Given the description of an element on the screen output the (x, y) to click on. 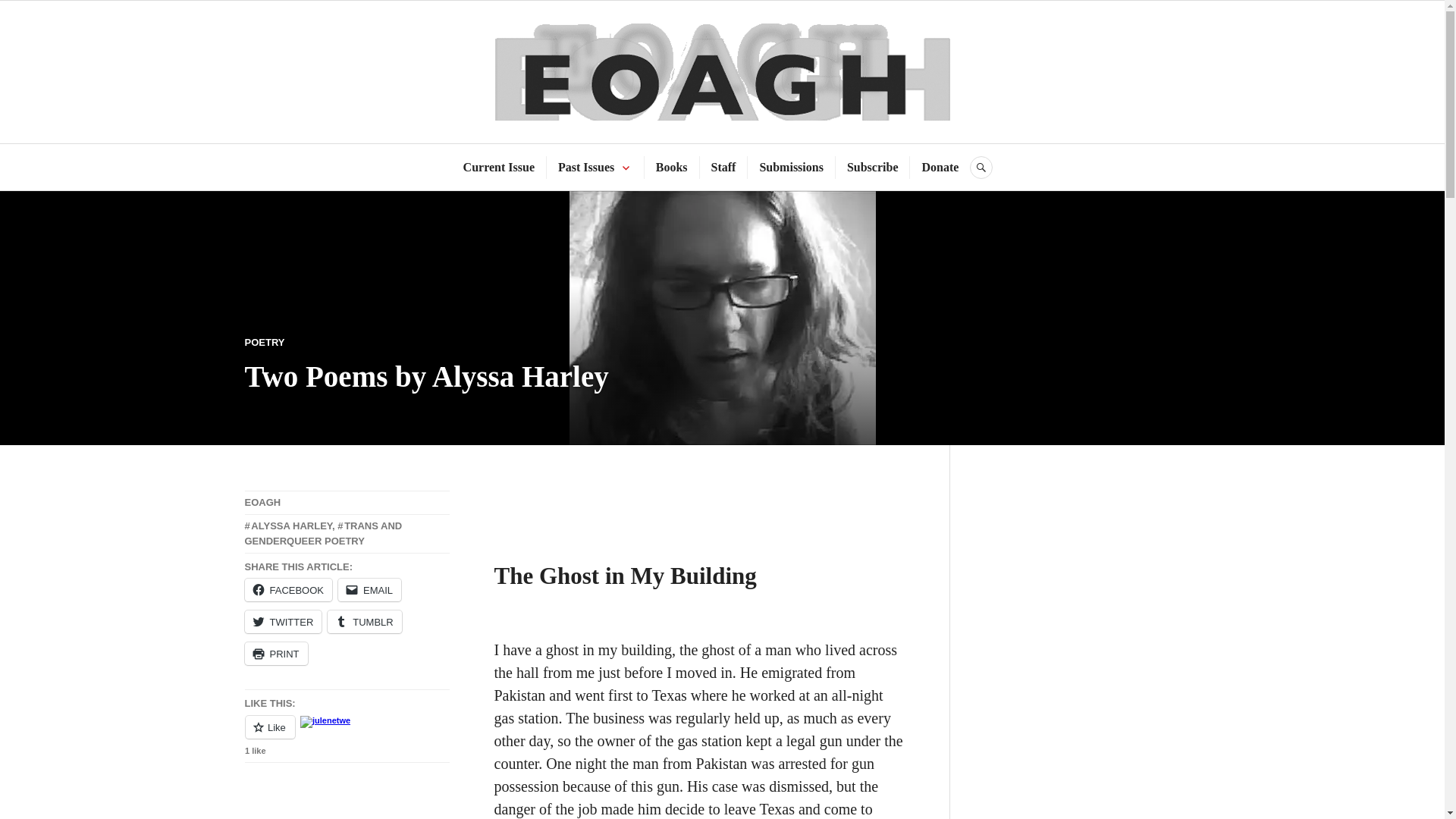
FACEBOOK (287, 589)
Past Issues (585, 167)
Staff (723, 167)
POETRY (263, 342)
Books (671, 167)
ALYSSA HARLEY (287, 525)
Submissions (791, 167)
Like or Reblog (346, 735)
Click to print (275, 653)
Subscribe (872, 167)
Click to share on Facebook (287, 589)
EMAIL (369, 589)
EOAGH (262, 501)
SEARCH (980, 167)
Donate (939, 167)
